Given the description of an element on the screen output the (x, y) to click on. 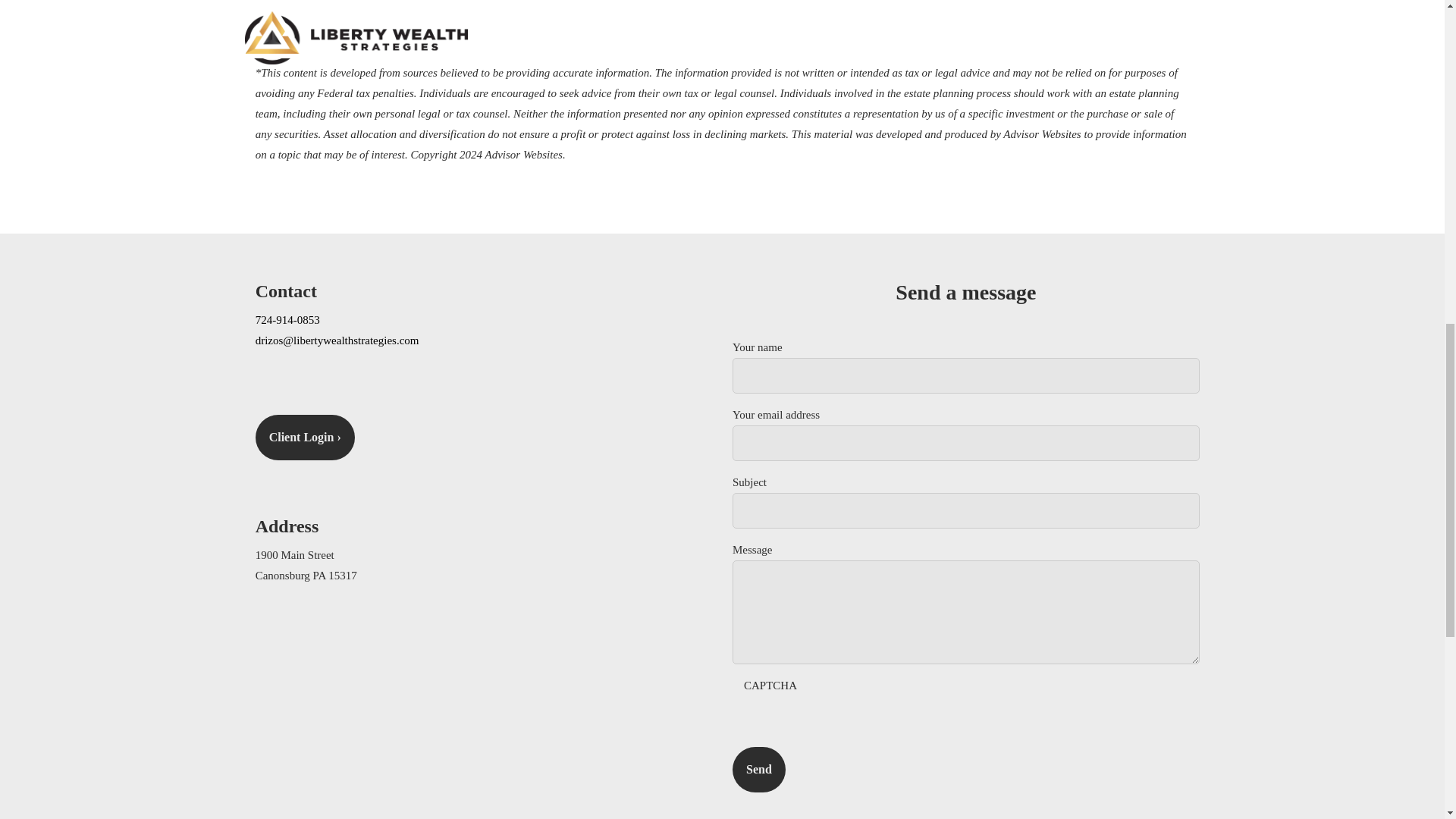
Send (759, 769)
724-914-0853 (288, 319)
Send (759, 769)
